Given the description of an element on the screen output the (x, y) to click on. 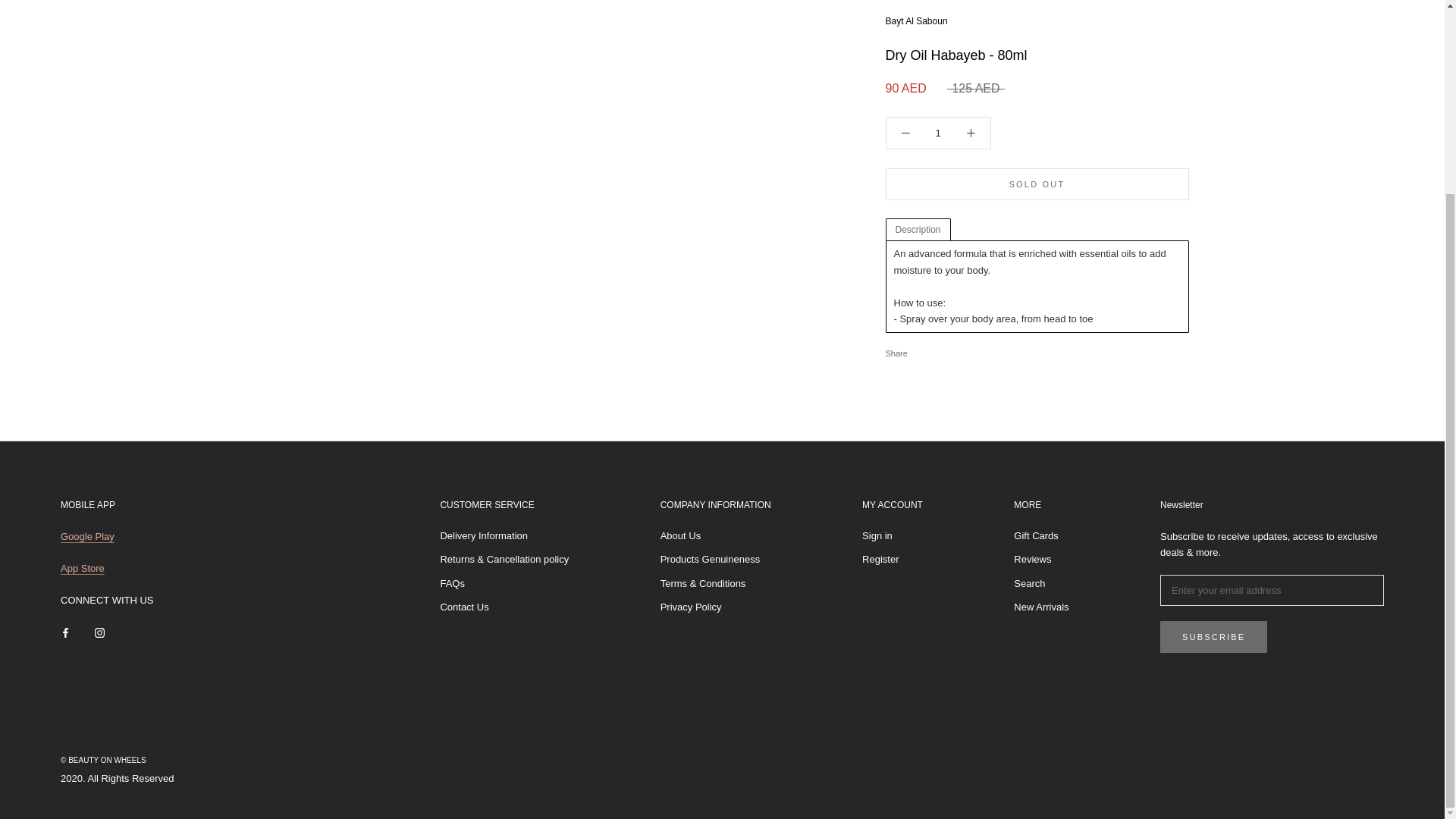
1 (938, 92)
